Given the description of an element on the screen output the (x, y) to click on. 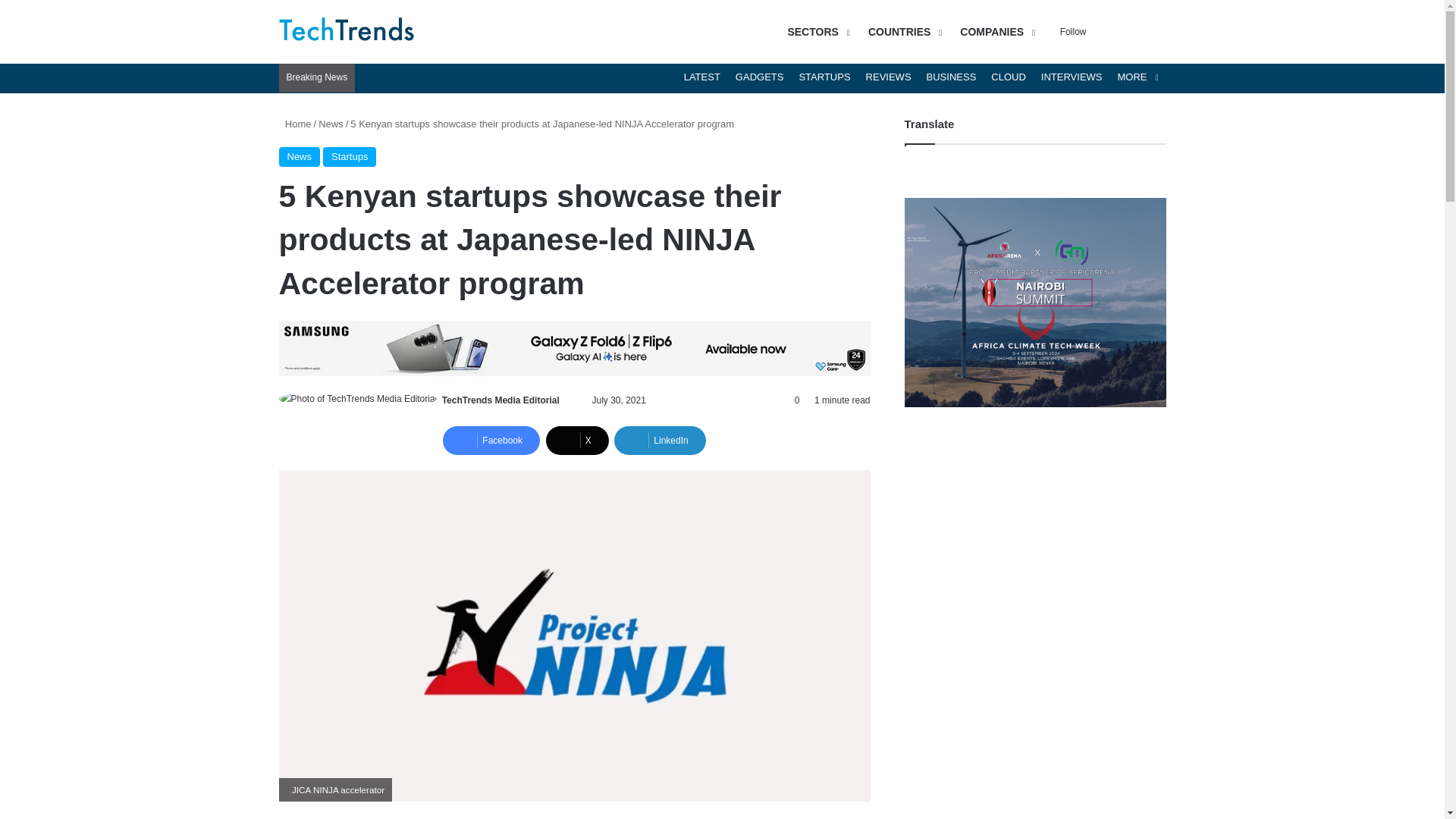
COMPANIES (995, 31)
SECTORS (816, 31)
COUNTRIES (903, 31)
TechTrends Media Editorial (500, 399)
X (577, 440)
TechTrendsKE (346, 31)
Facebook (491, 440)
LinkedIn (659, 440)
